Given the description of an element on the screen output the (x, y) to click on. 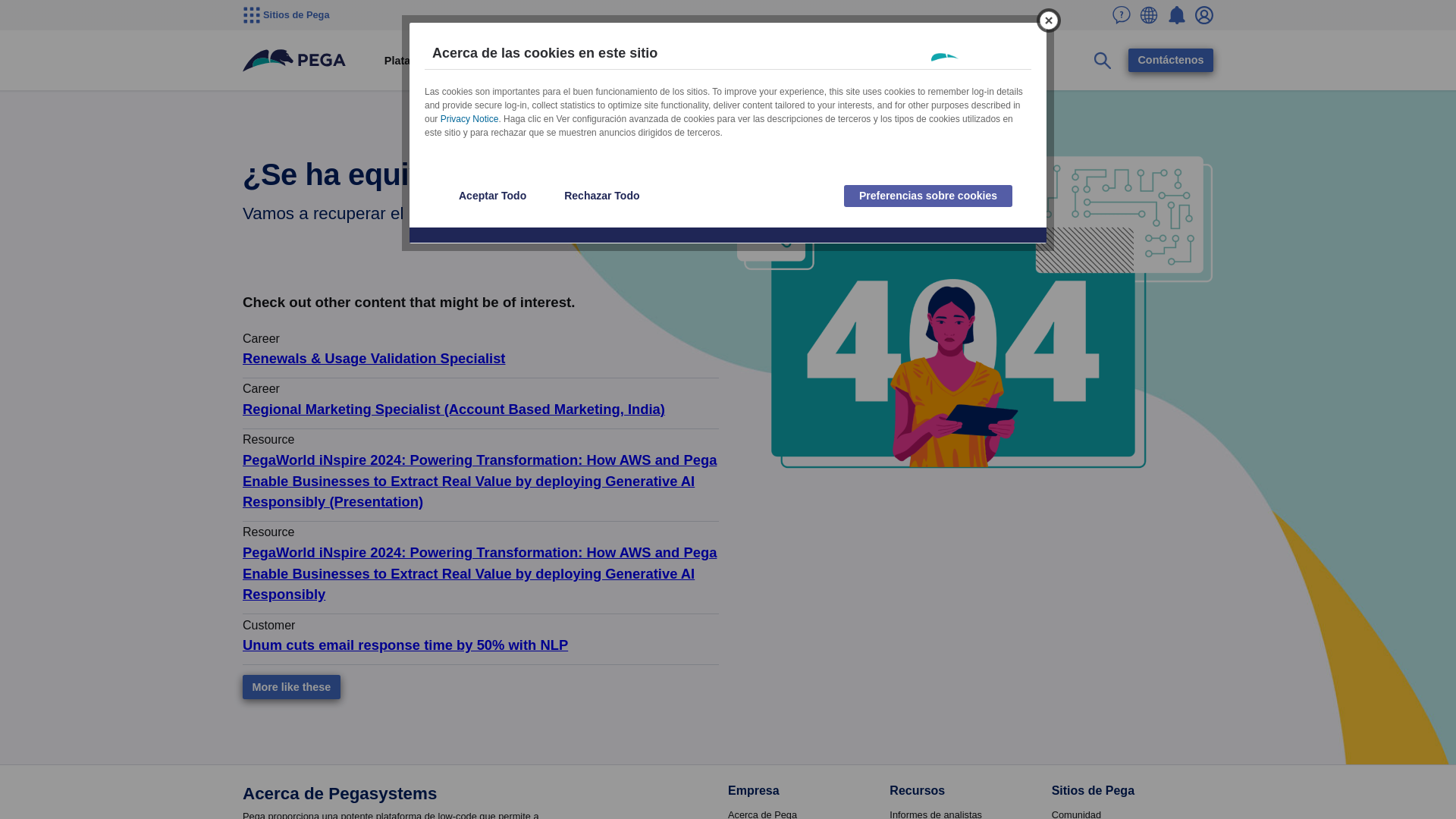
Soluciones (488, 60)
Toggle Search Panel (1102, 60)
Plataforma (411, 60)
